Given the description of an element on the screen output the (x, y) to click on. 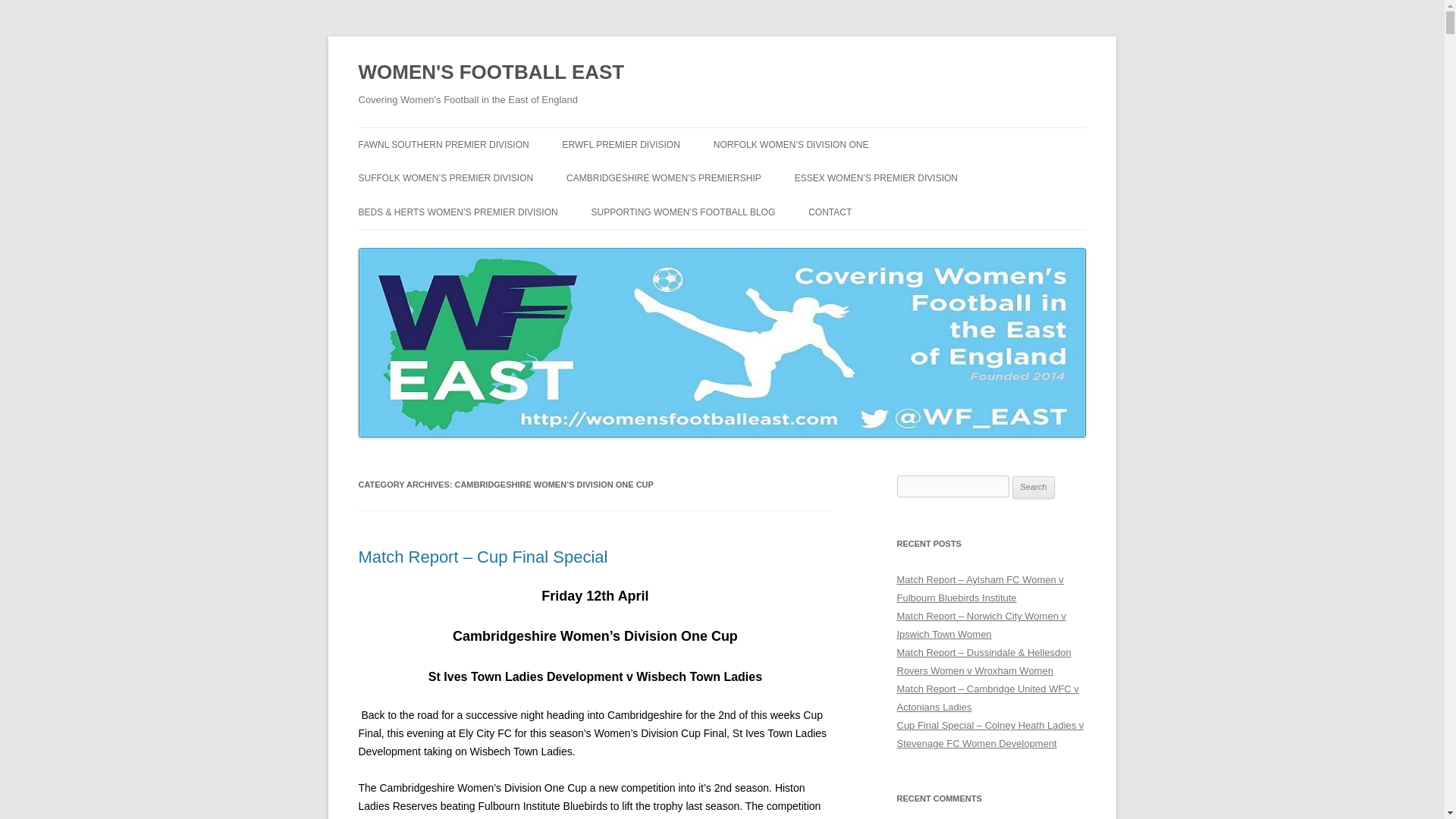
FAWNL SOUTH EAST DIVISION ONE (433, 185)
Search (1033, 486)
WOMEN'S FOOTBALL EAST (491, 72)
FAWNL SOUTHERN PREMIER DIVISION (443, 144)
ERWFL PREMIER DIVISION (620, 144)
ERWFL DIVISION ONE NORTH (638, 176)
